Given the description of an element on the screen output the (x, y) to click on. 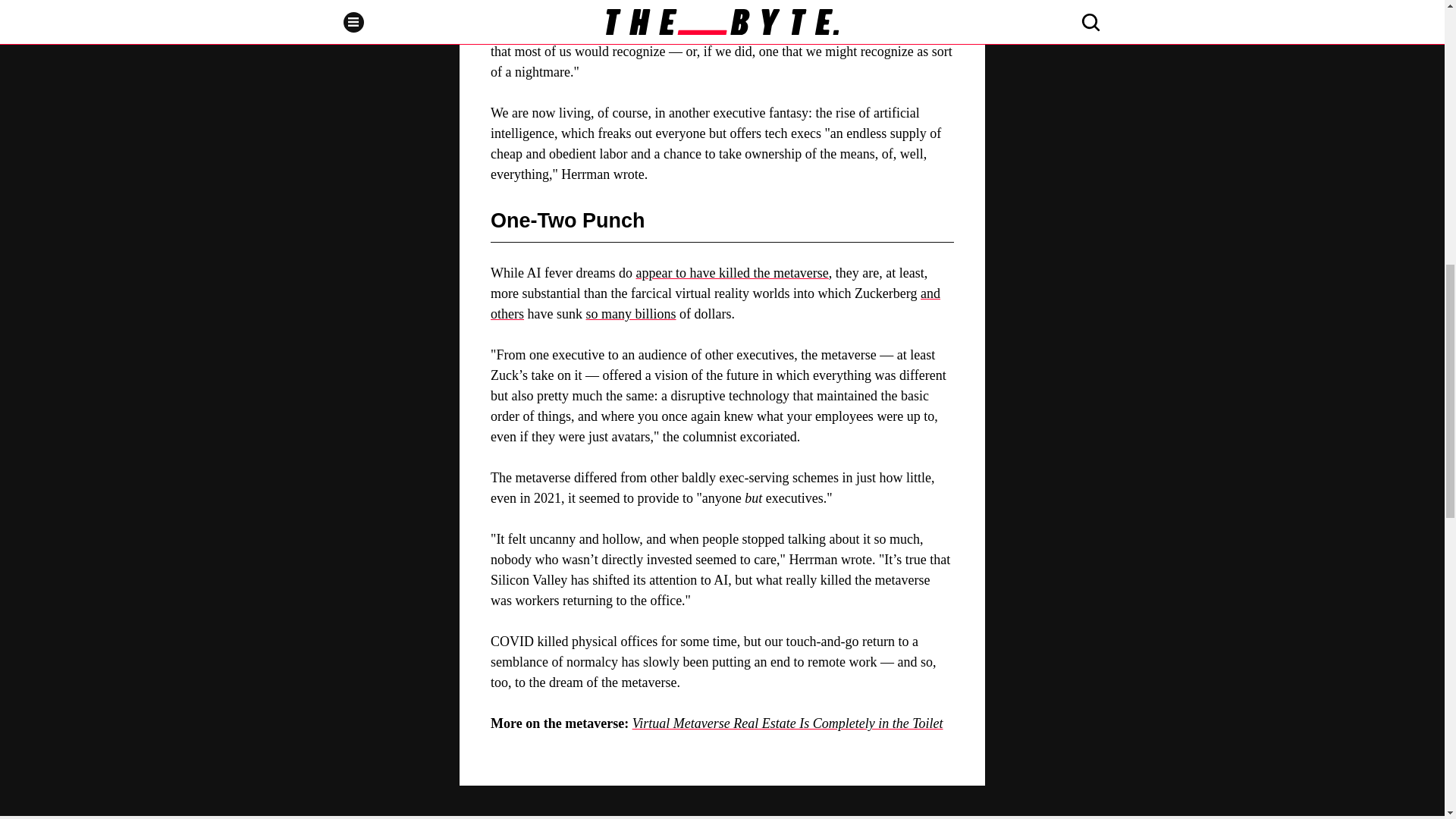
appear to have killed the metaverse (731, 272)
Virtual Metaverse Real Estate Is Completely in the Toilet (787, 723)
and others (715, 303)
so many billions (631, 313)
